Given the description of an element on the screen output the (x, y) to click on. 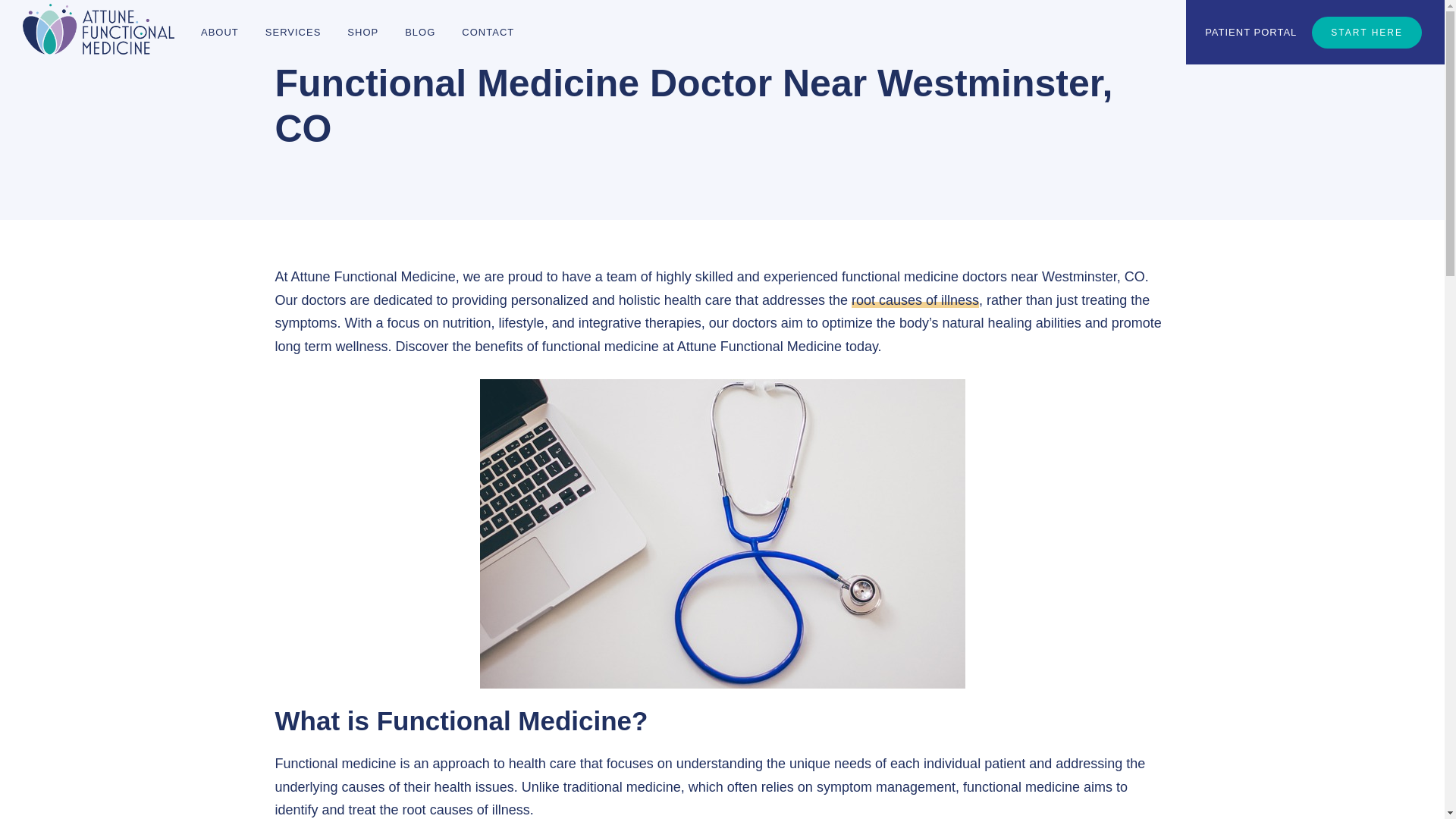
SERVICES (293, 31)
BLOG (419, 31)
CONTACT (487, 31)
SHOP (363, 31)
ABOUT (219, 31)
PATIENT PORTAL (1250, 31)
START HERE (1366, 32)
